Given the description of an element on the screen output the (x, y) to click on. 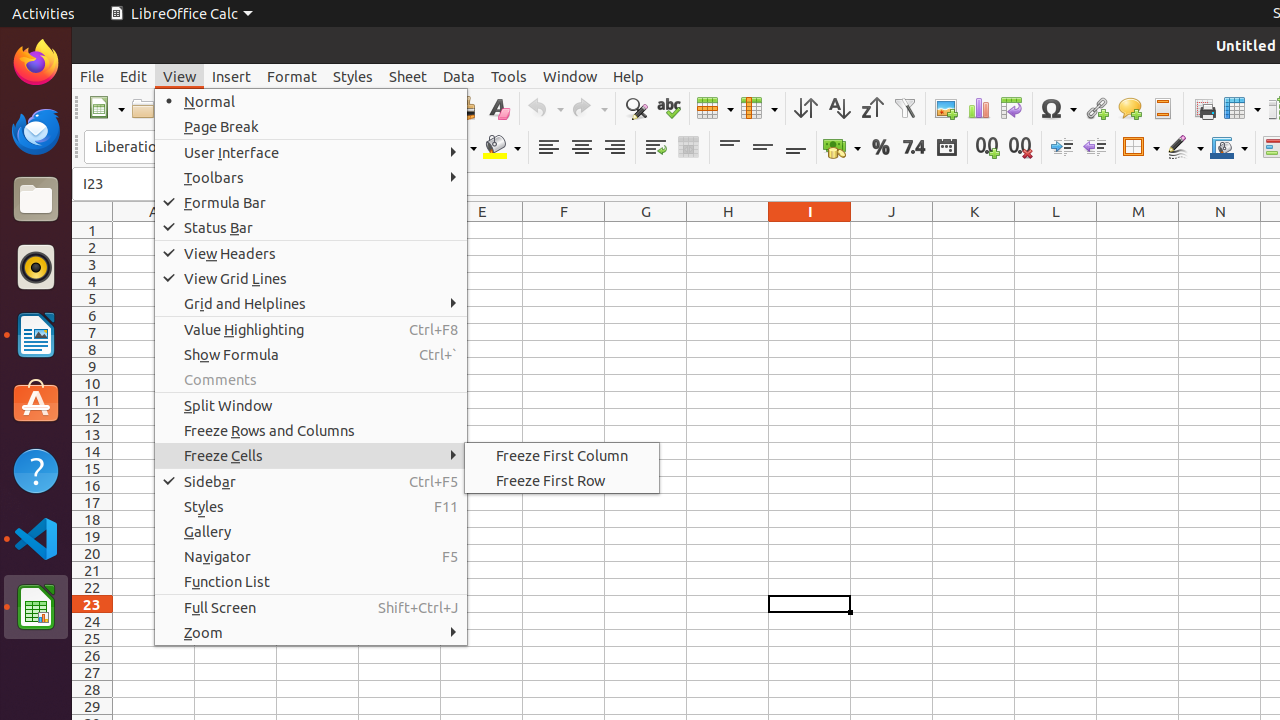
Find & Replace Element type: toggle-button (635, 108)
Zoom Element type: menu (311, 632)
K1 Element type: table-cell (974, 230)
Freeze Rows and Columns Element type: push-button (1242, 108)
Align Bottom Element type: push-button (795, 147)
